Given the description of an element on the screen output the (x, y) to click on. 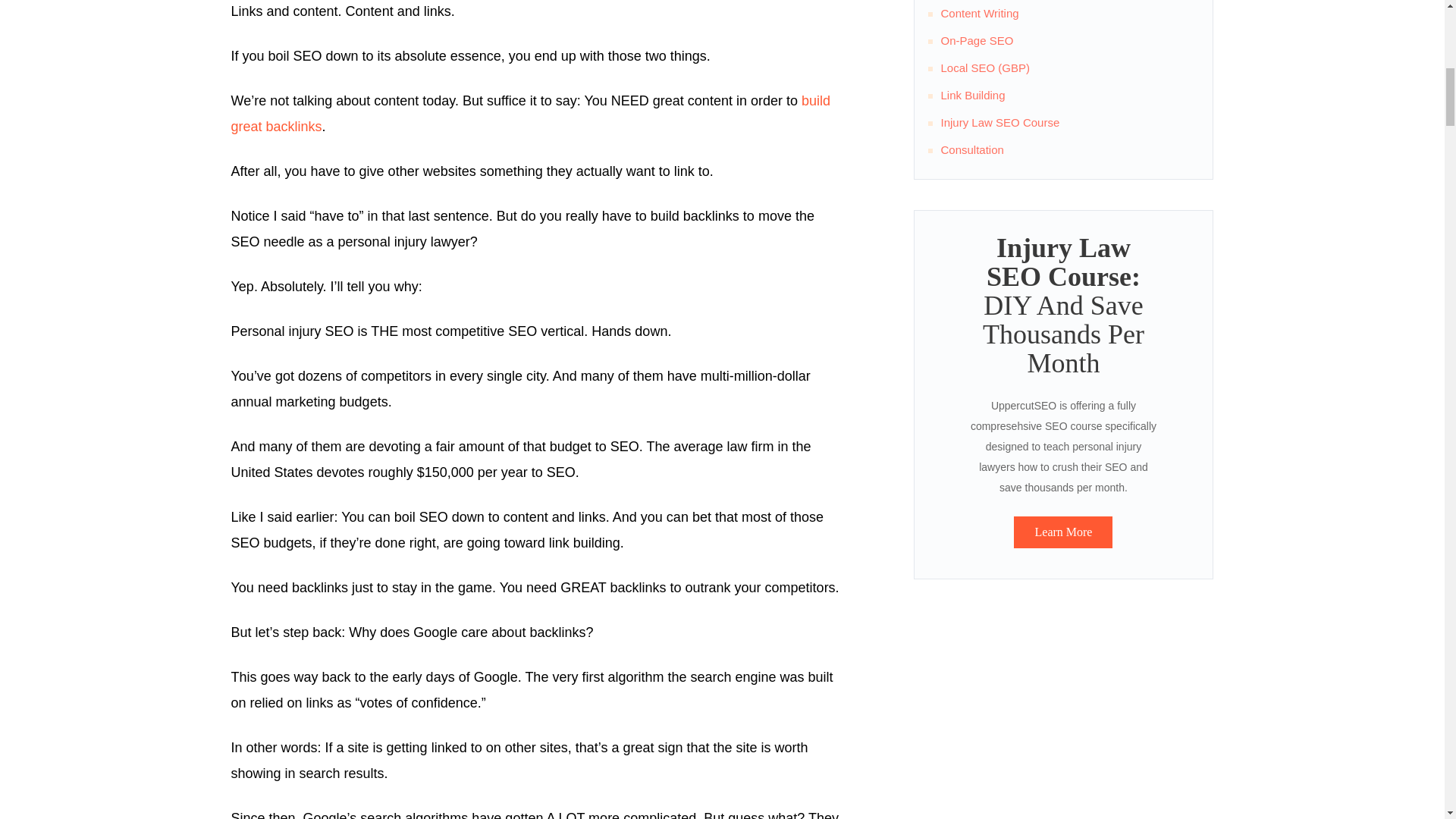
Injury Law SEO Course (999, 122)
build great backlinks (529, 113)
Link Building (972, 94)
Consultation (971, 149)
Content Writing (978, 12)
Learn More (1062, 531)
On-Page SEO (976, 40)
